Given the description of an element on the screen output the (x, y) to click on. 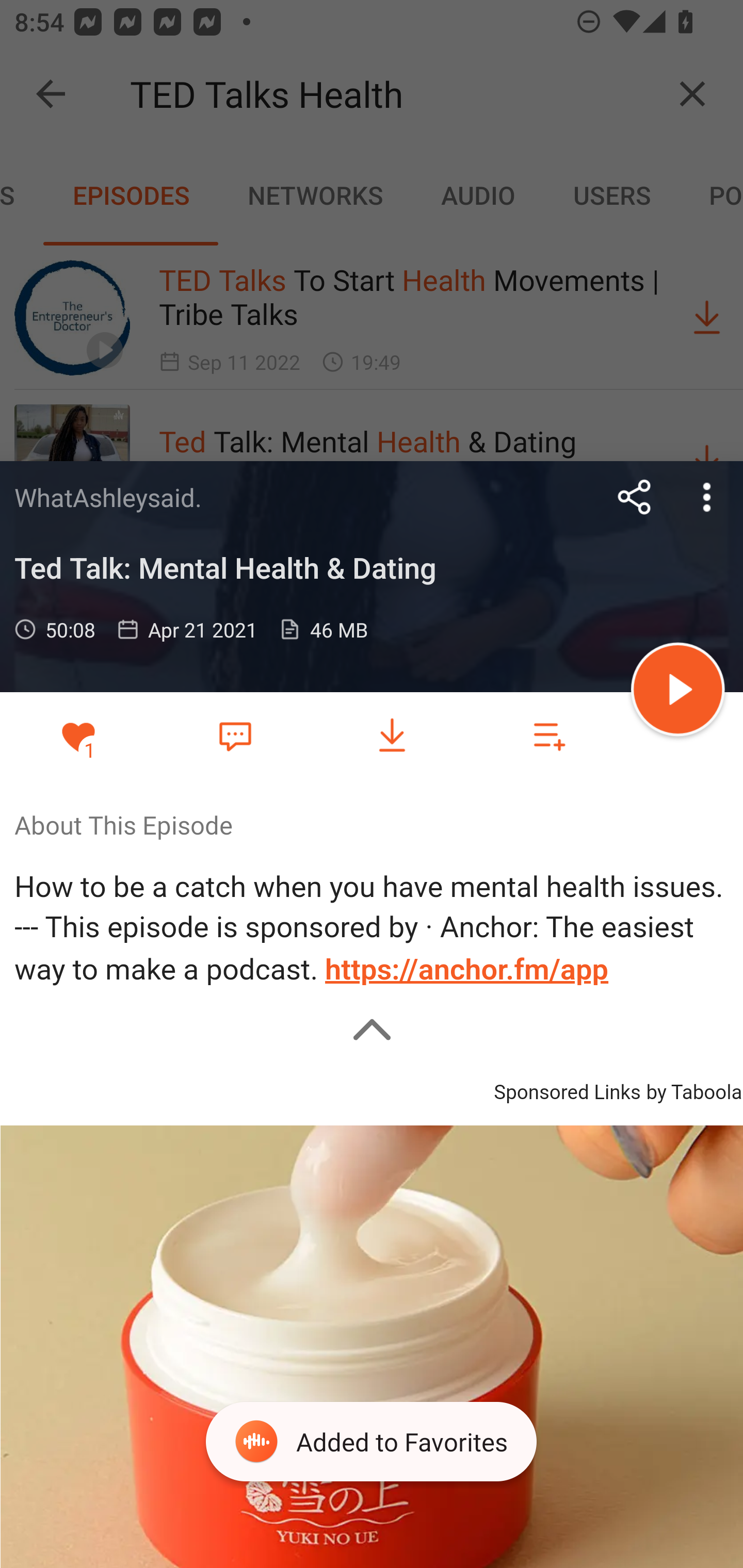
Share (634, 496)
more options (706, 496)
Play (677, 692)
Favorite (234, 735)
Remove from Favorites (78, 735)
Download (391, 735)
Add to playlist (548, 735)
https://anchor.fm/app (467, 969)
Sponsored Links (566, 1088)
by Taboola (693, 1088)
Image for Taboola Advertising Unit (371, 1345)
